Given the description of an element on the screen output the (x, y) to click on. 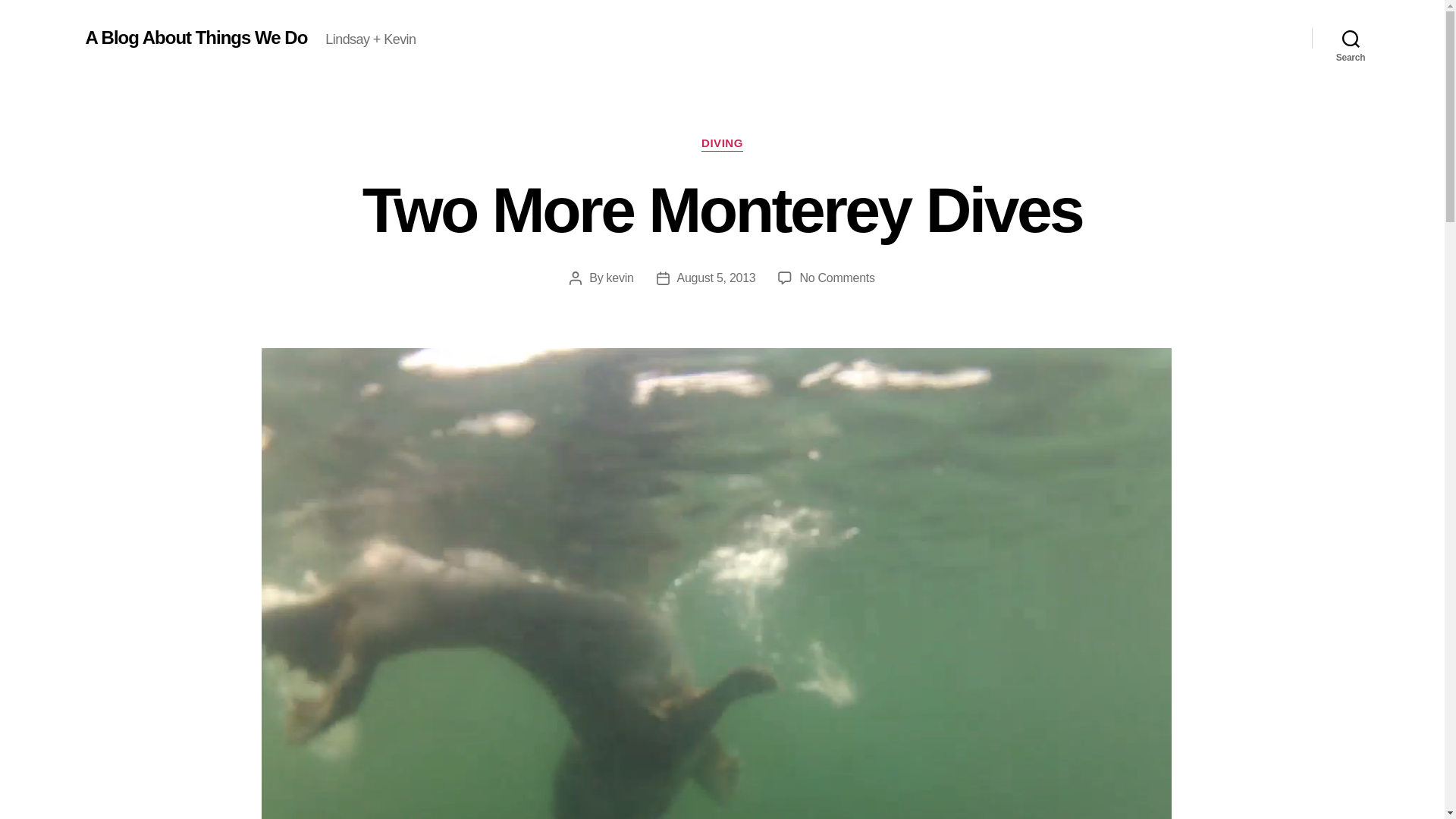
kevin (620, 277)
DIVING (837, 277)
August 5, 2013 (721, 143)
A Blog About Things We Do (716, 277)
Search (195, 37)
